Given the description of an element on the screen output the (x, y) to click on. 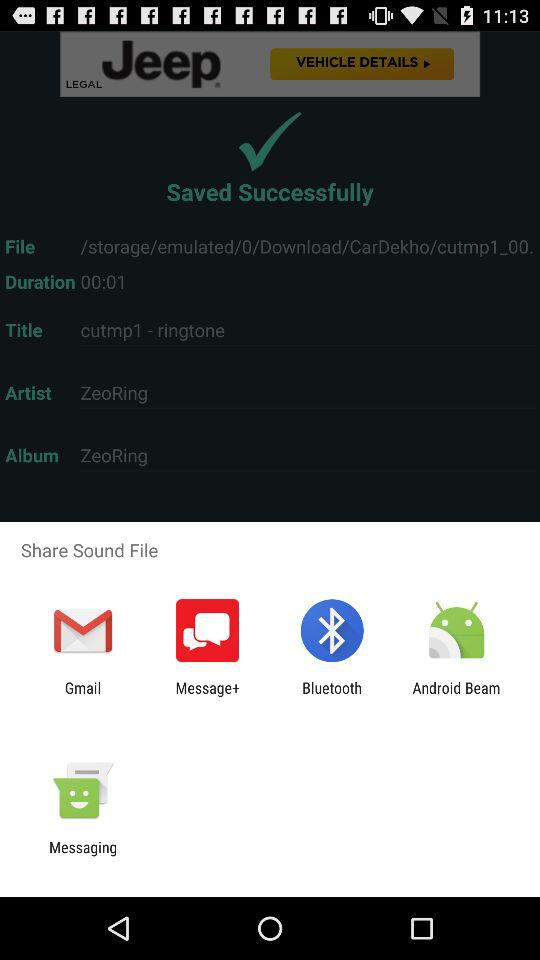
turn on the app next to bluetooth icon (207, 696)
